Given the description of an element on the screen output the (x, y) to click on. 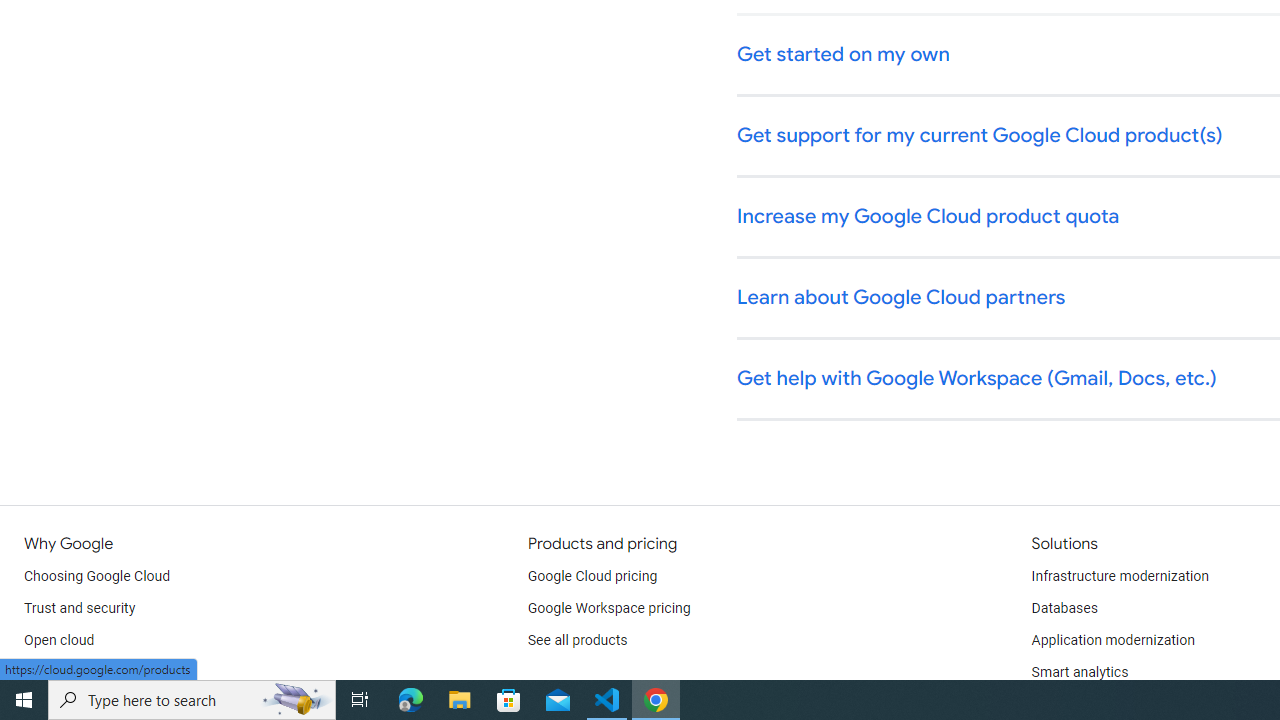
Choosing Google Cloud (97, 576)
Google Workspace pricing (609, 608)
Smart analytics (1079, 672)
Databases (1064, 608)
Trust and security (79, 608)
See all products (577, 640)
Infrastructure modernization (1119, 576)
Open cloud (59, 640)
Multicloud (56, 672)
Application modernization (1112, 640)
Google Cloud pricing (592, 576)
